Given the description of an element on the screen output the (x, y) to click on. 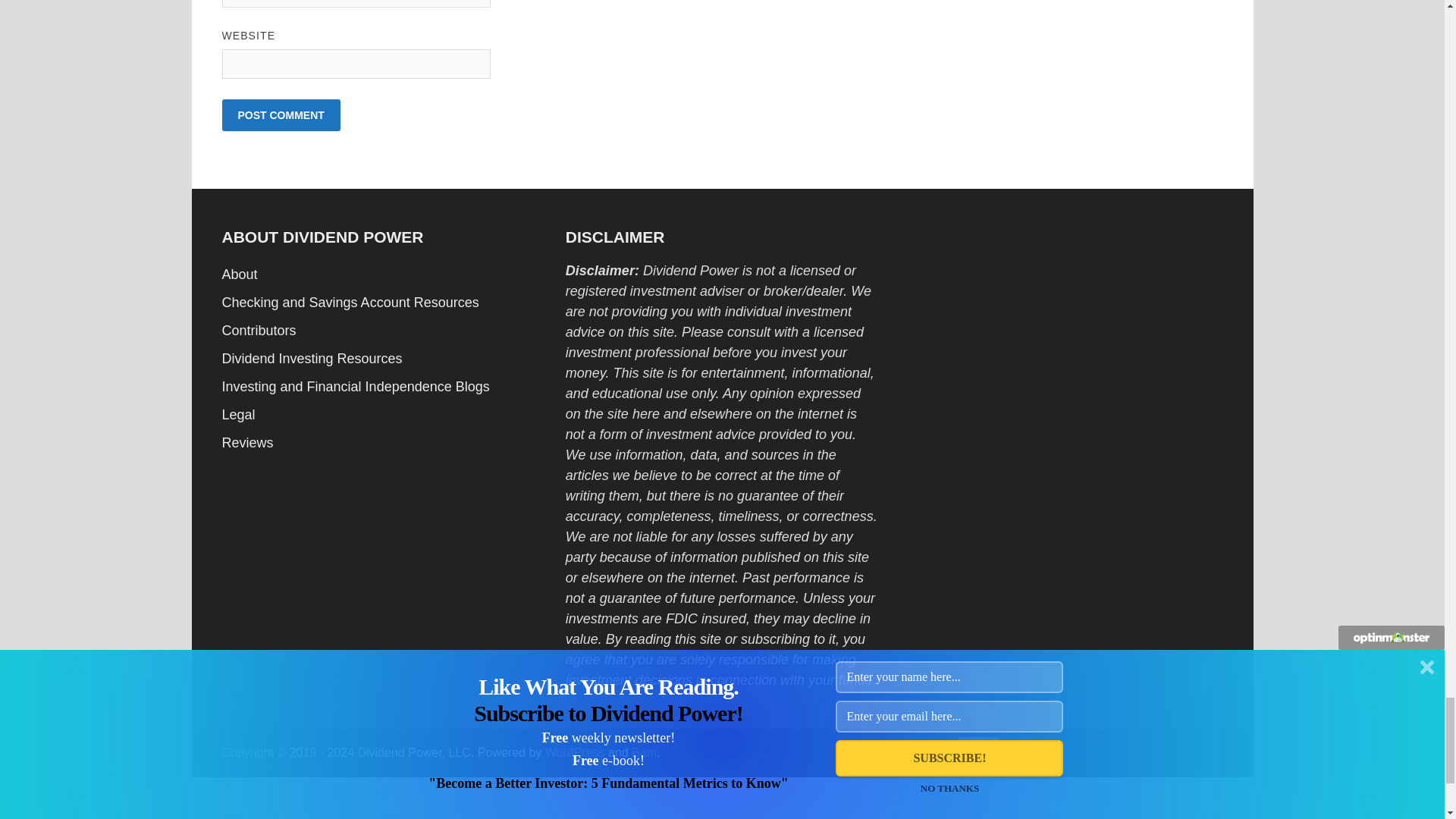
Post Comment (280, 115)
